Given the description of an element on the screen output the (x, y) to click on. 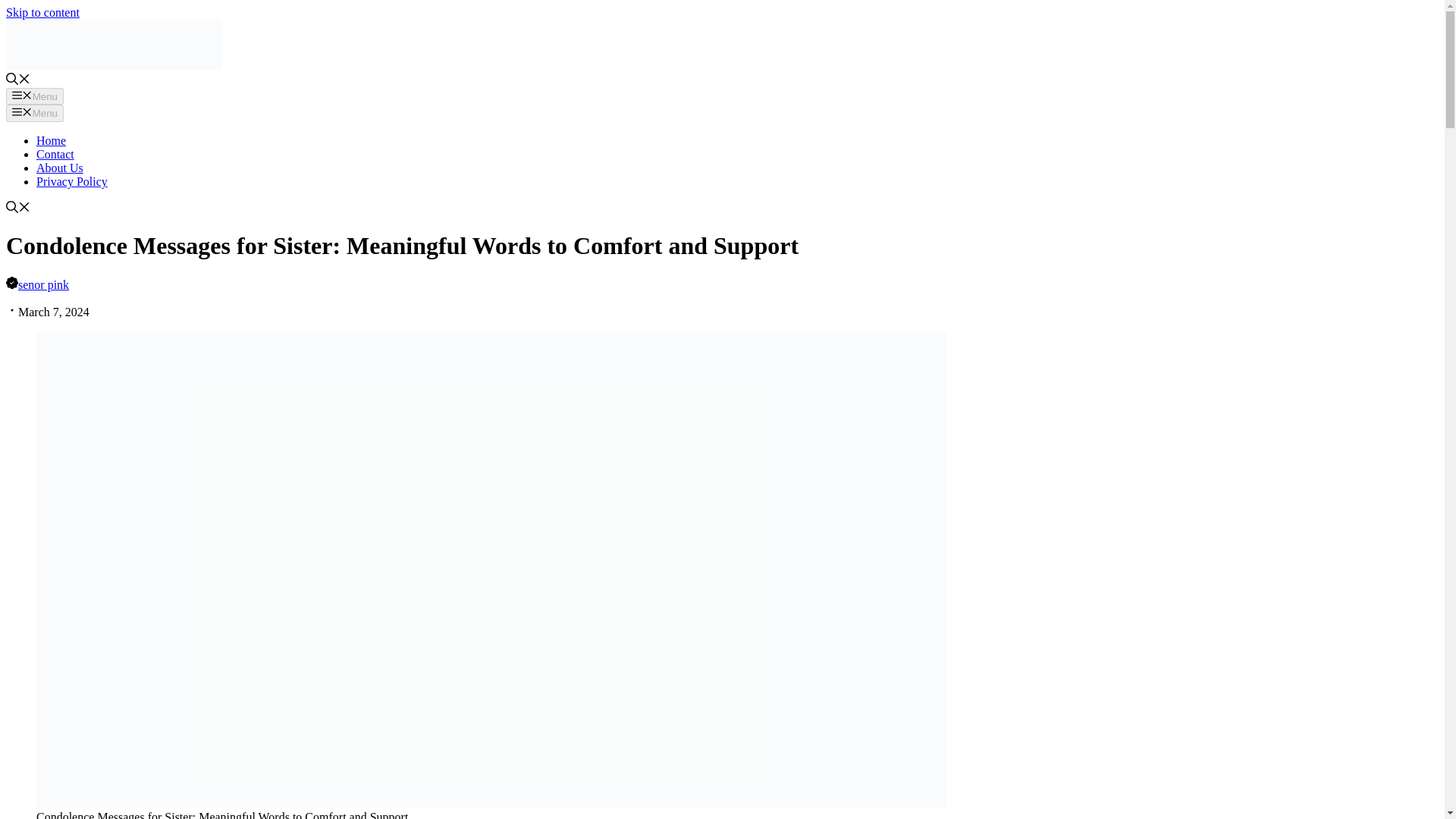
About Us (59, 167)
senor pink (42, 284)
Privacy Policy (71, 181)
Home (50, 140)
Contact (55, 154)
Menu (34, 112)
Skip to content (42, 11)
Menu (34, 95)
Skip to content (42, 11)
